Given the description of an element on the screen output the (x, y) to click on. 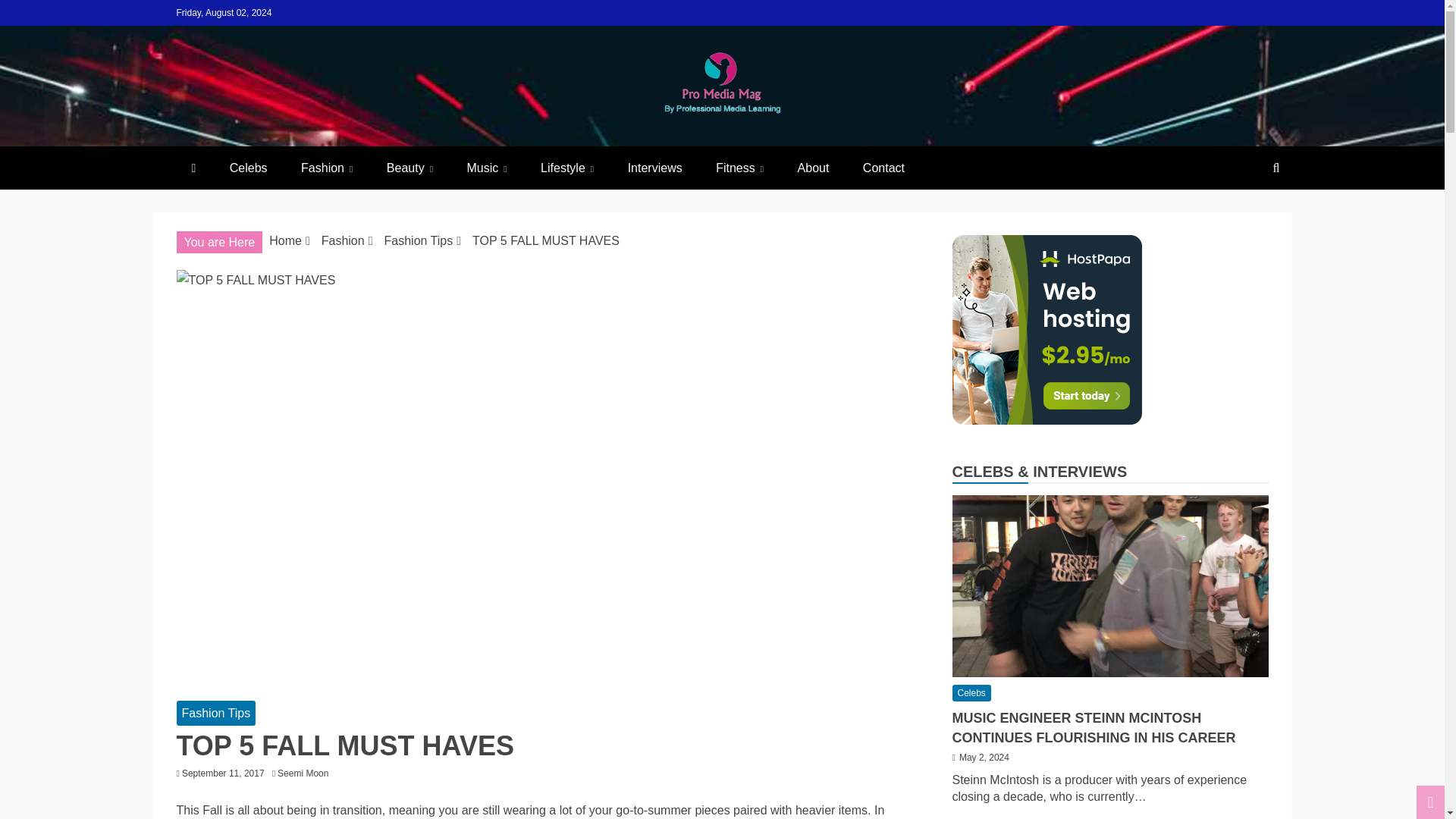
Music (486, 167)
Celebs (248, 167)
Lifestyle (566, 167)
Beauty (409, 167)
PRO MEDIA MAG (380, 152)
Fashion (326, 167)
